Given the description of an element on the screen output the (x, y) to click on. 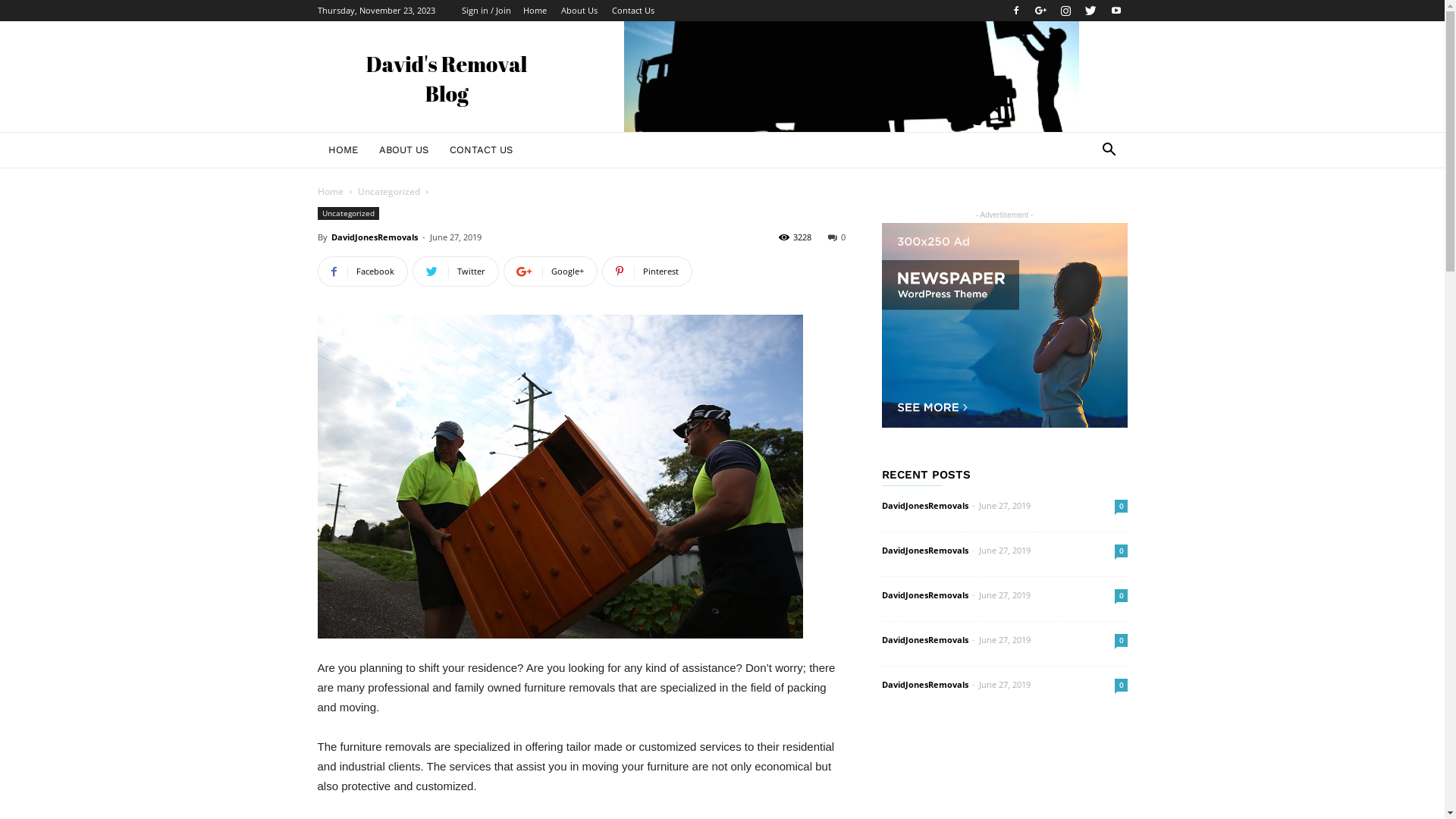
Sign in / Join Element type: text (485, 9)
0 Element type: text (1120, 595)
Search Element type: text (1085, 210)
Uncategorized Element type: text (388, 191)
Twitter Element type: text (455, 271)
DavidJonesRemovals Element type: text (924, 684)
Youtube Element type: hover (1115, 10)
0 Element type: text (1120, 684)
0 Element type: text (1120, 505)
0 Element type: text (1120, 550)
HOME Element type: text (341, 149)
Facebook Element type: text (361, 271)
DavidJonesRemovals Element type: text (924, 594)
CONTACT US Element type: text (480, 149)
Pinterest Element type: text (647, 271)
Google+ Element type: text (550, 271)
ABOUT US Element type: text (403, 149)
DavidJonesRemovals Element type: text (924, 639)
DavidJonesRemovals Element type: text (373, 236)
Instagram Element type: hover (1065, 10)
Home Element type: text (329, 191)
Home Element type: text (534, 9)
0 Element type: text (836, 236)
Contact Us Element type: text (632, 9)
DavidJonesRemovals Element type: text (924, 549)
Google+ Element type: hover (1040, 10)
Twitter Element type: hover (1090, 10)
0 Element type: text (1120, 639)
DavidJonesRemovals Element type: text (924, 505)
Facebook Element type: hover (1015, 10)
About Us Element type: text (579, 9)
furniture removal Element type: hover (559, 476)
Uncategorized Element type: text (347, 213)
